Given the description of an element on the screen output the (x, y) to click on. 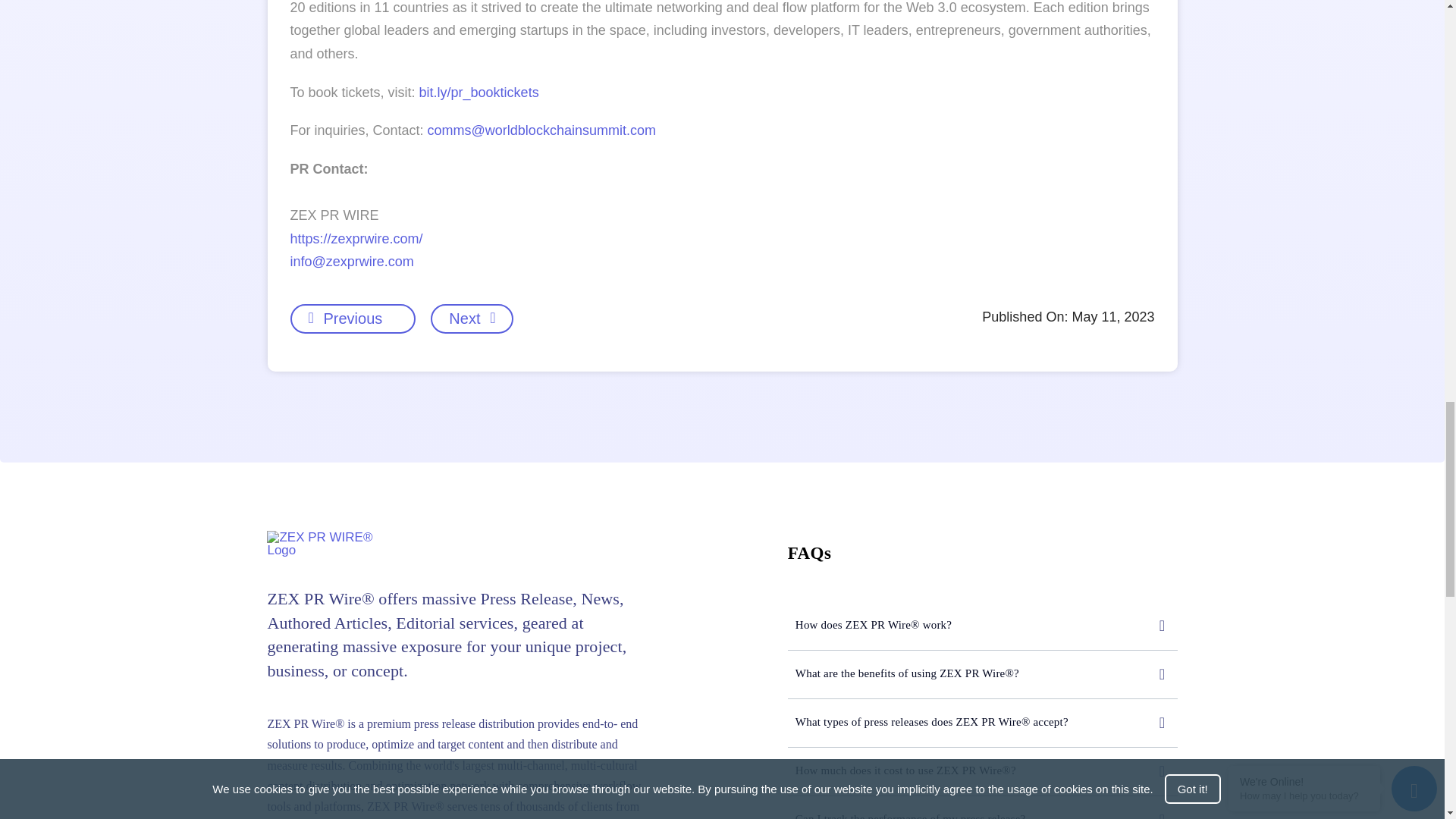
Next (471, 318)
Previous (344, 318)
